Given the description of an element on the screen output the (x, y) to click on. 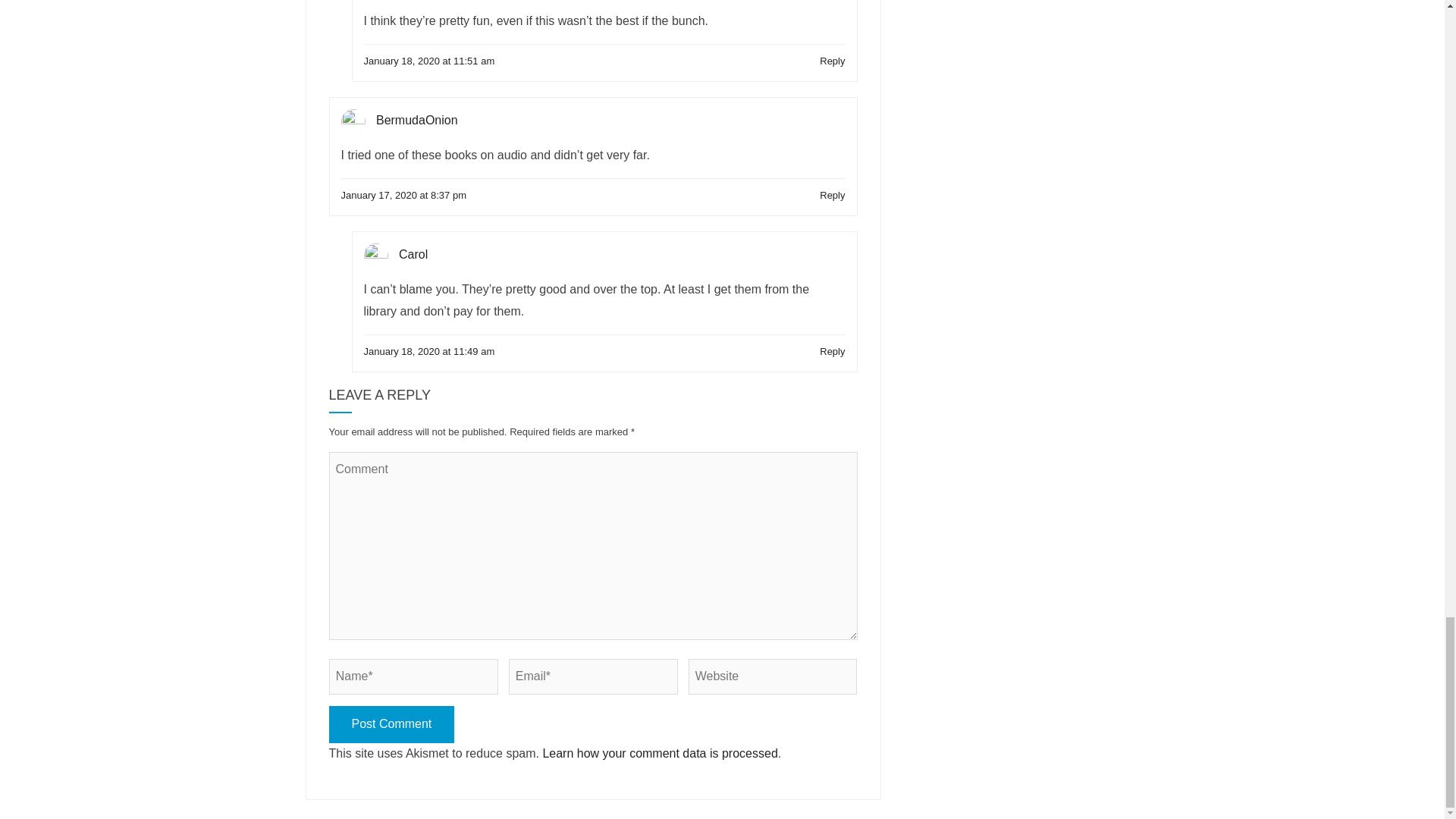
Reply (831, 351)
January 17, 2020 at 8:37 pm (403, 194)
January 18, 2020 at 11:51 am (429, 60)
Post Comment (391, 723)
BermudaOnion (416, 119)
Carol (413, 254)
Reply (831, 60)
January 18, 2020 at 11:49 am (429, 351)
Reply (831, 194)
Post Comment (391, 723)
